Given the description of an element on the screen output the (x, y) to click on. 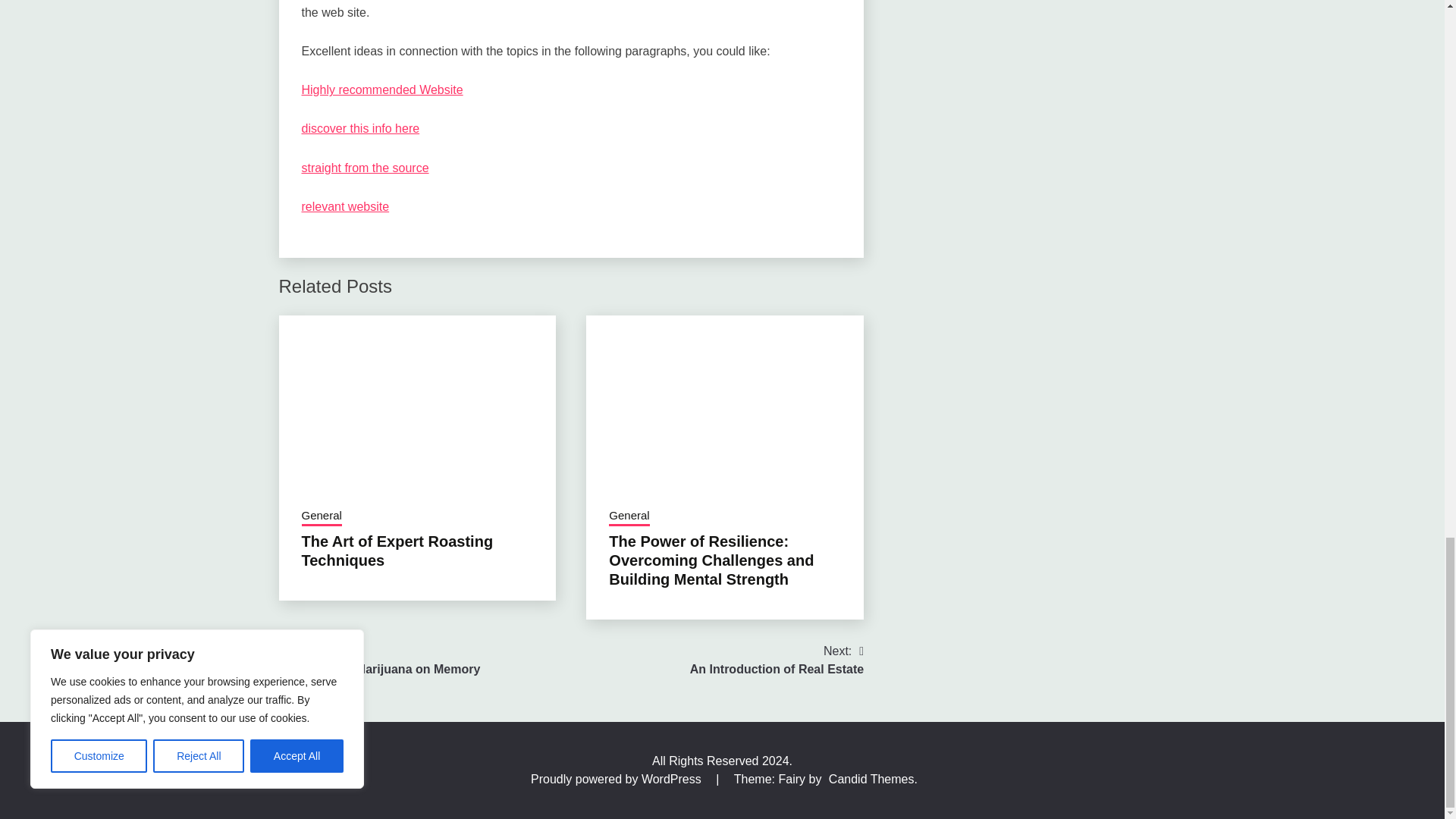
straight from the source (365, 167)
discover this info here (360, 128)
relevant website (345, 205)
Highly recommended Website (382, 89)
